Given the description of an element on the screen output the (x, y) to click on. 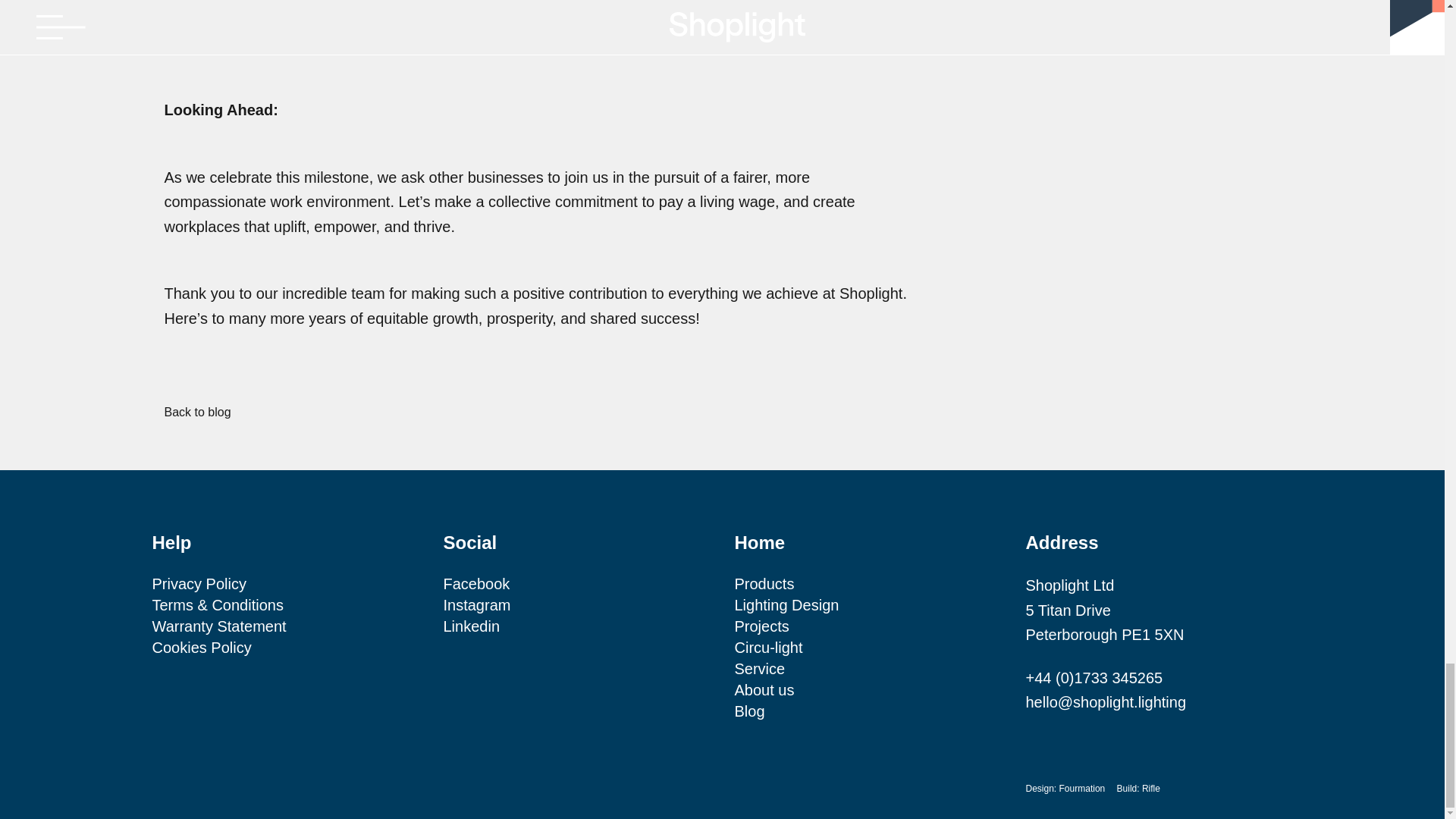
Back to blog (196, 411)
Privacy Policy (198, 583)
Linkedin (470, 626)
Rifle - Web Development (1150, 787)
Warranty Statement (218, 626)
Instagram (476, 605)
Cookies Policy (200, 647)
Facebook (475, 583)
